Given the description of an element on the screen output the (x, y) to click on. 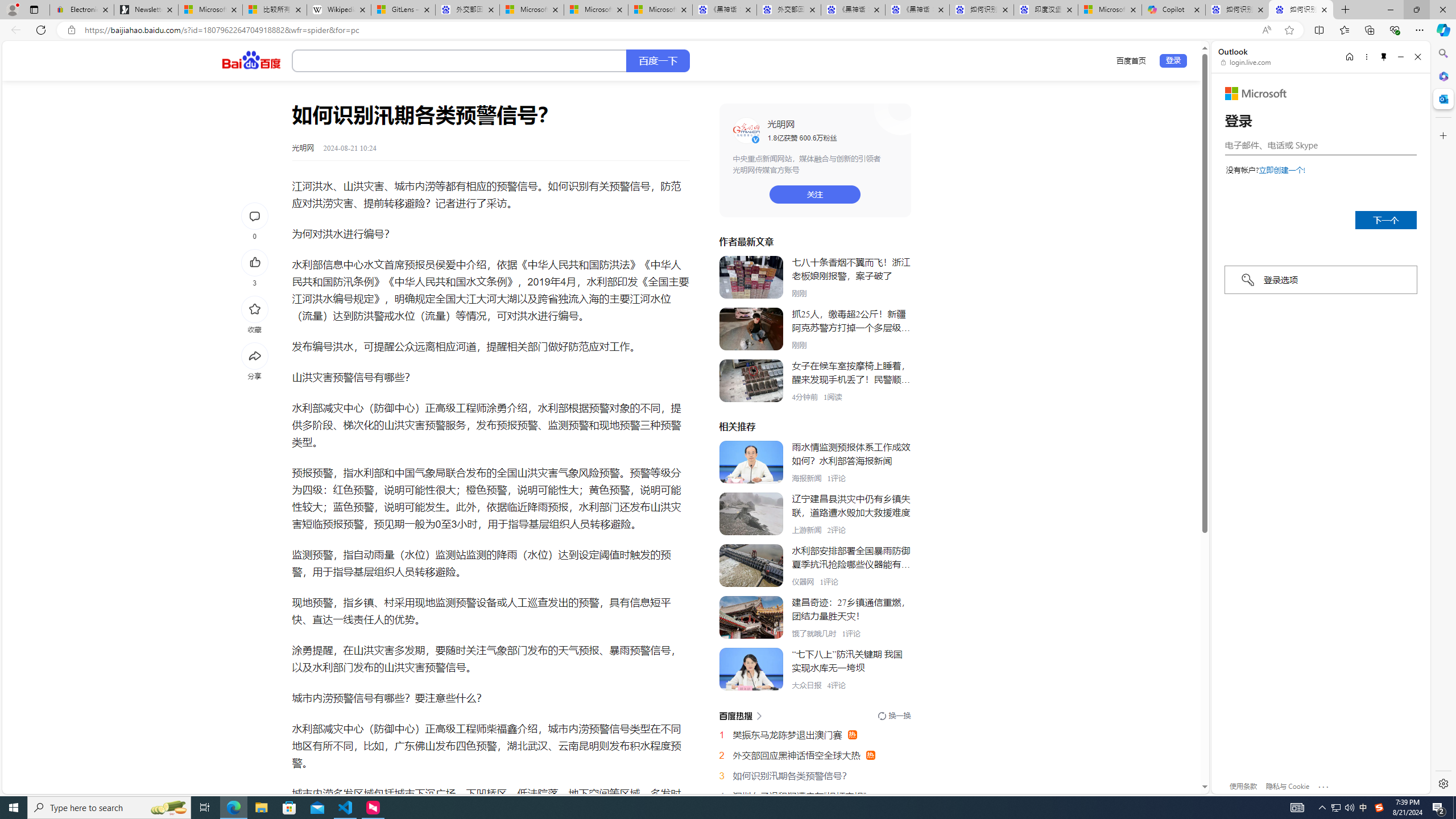
Newsletter Sign Up (146, 9)
